Given the description of an element on the screen output the (x, y) to click on. 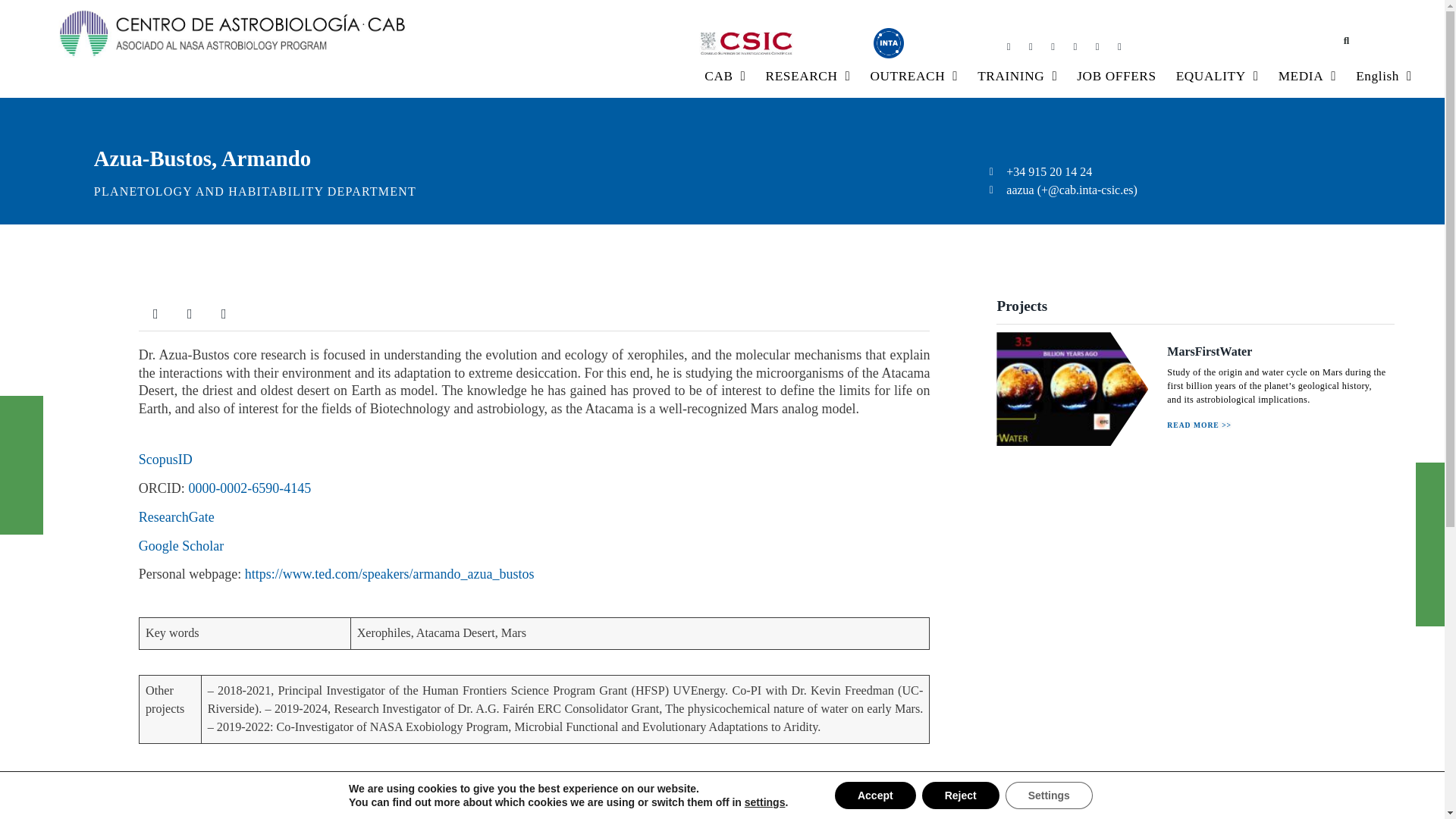
OUTREACH (914, 76)
RESEARCH (807, 76)
English (1383, 76)
CAB (724, 76)
